Given the description of an element on the screen output the (x, y) to click on. 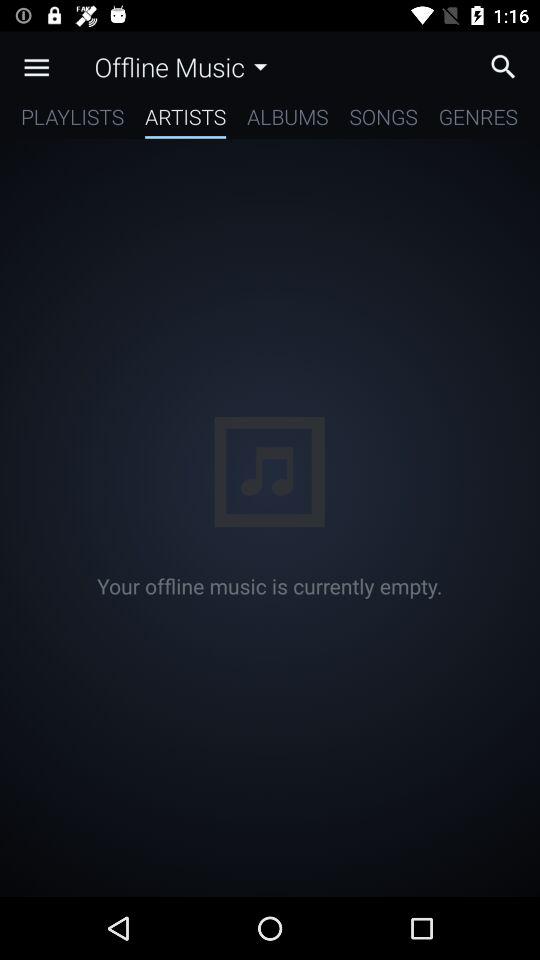
turn on item next to the songs (477, 120)
